Given the description of an element on the screen output the (x, y) to click on. 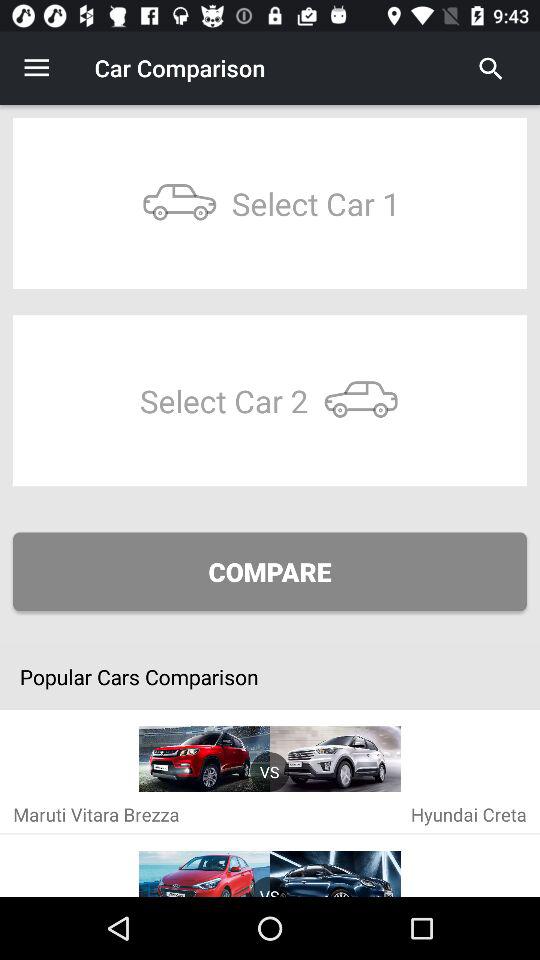
searches for information (491, 68)
